Given the description of an element on the screen output the (x, y) to click on. 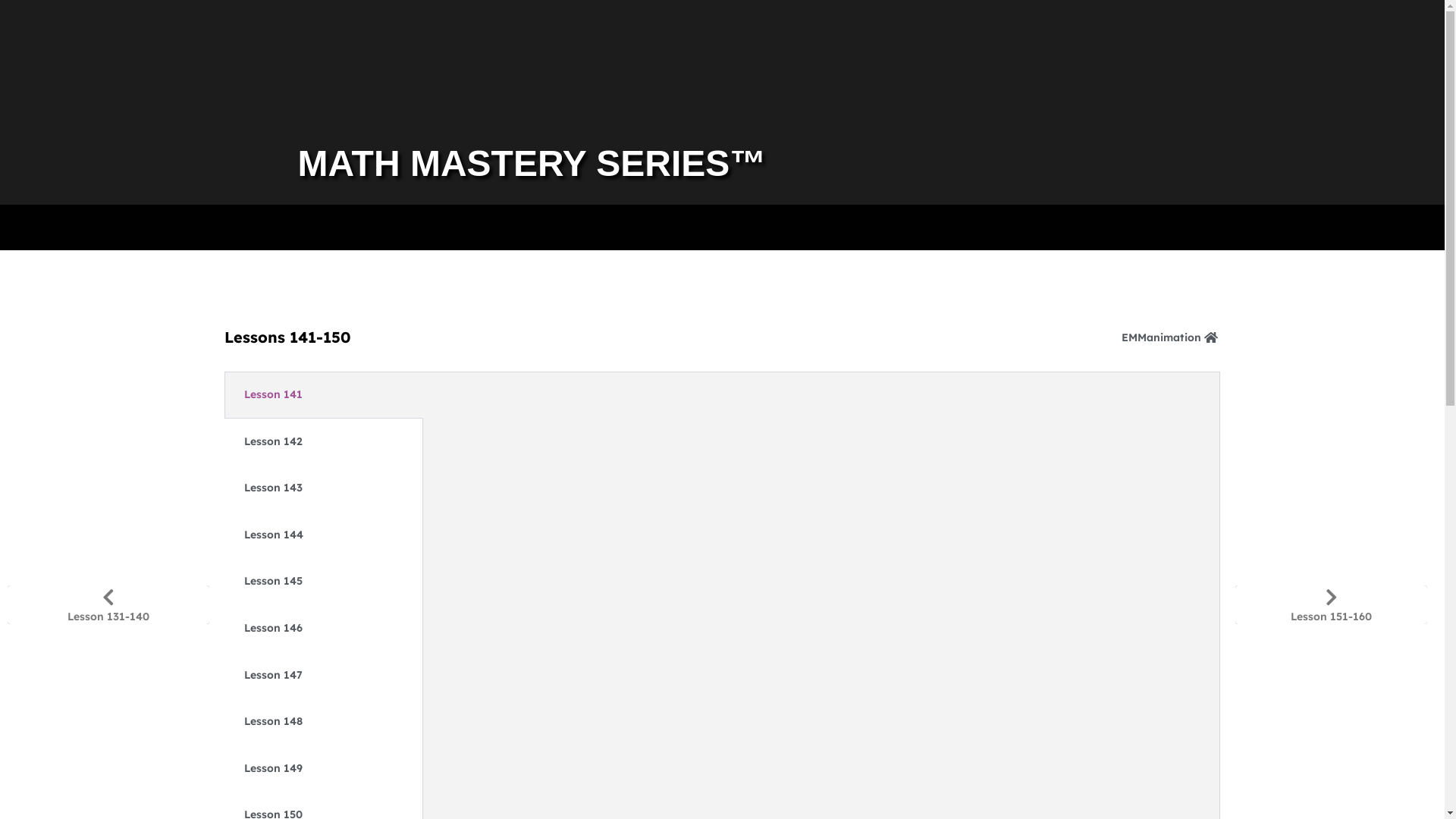
Lesson 131-140 Element type: text (108, 604)
Lesson 151-160 Element type: text (1331, 604)
EMManimation Element type: text (1170, 336)
